Given the description of an element on the screen output the (x, y) to click on. 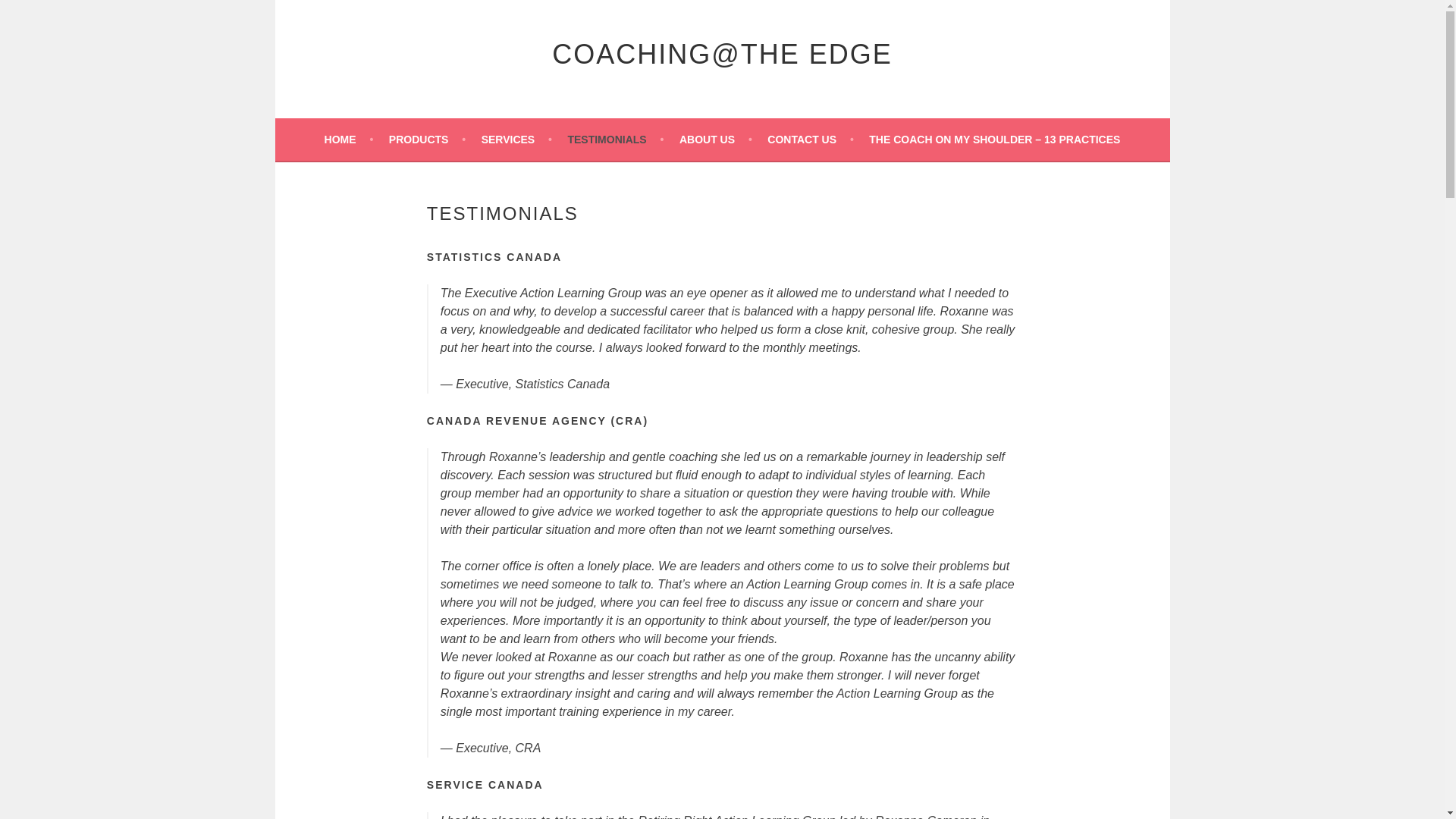
TESTIMONIALS (615, 139)
HOME (349, 139)
ABOUT US (715, 139)
CONTACT US (810, 139)
PRODUCTS (426, 139)
SERVICES (516, 139)
